Given the description of an element on the screen output the (x, y) to click on. 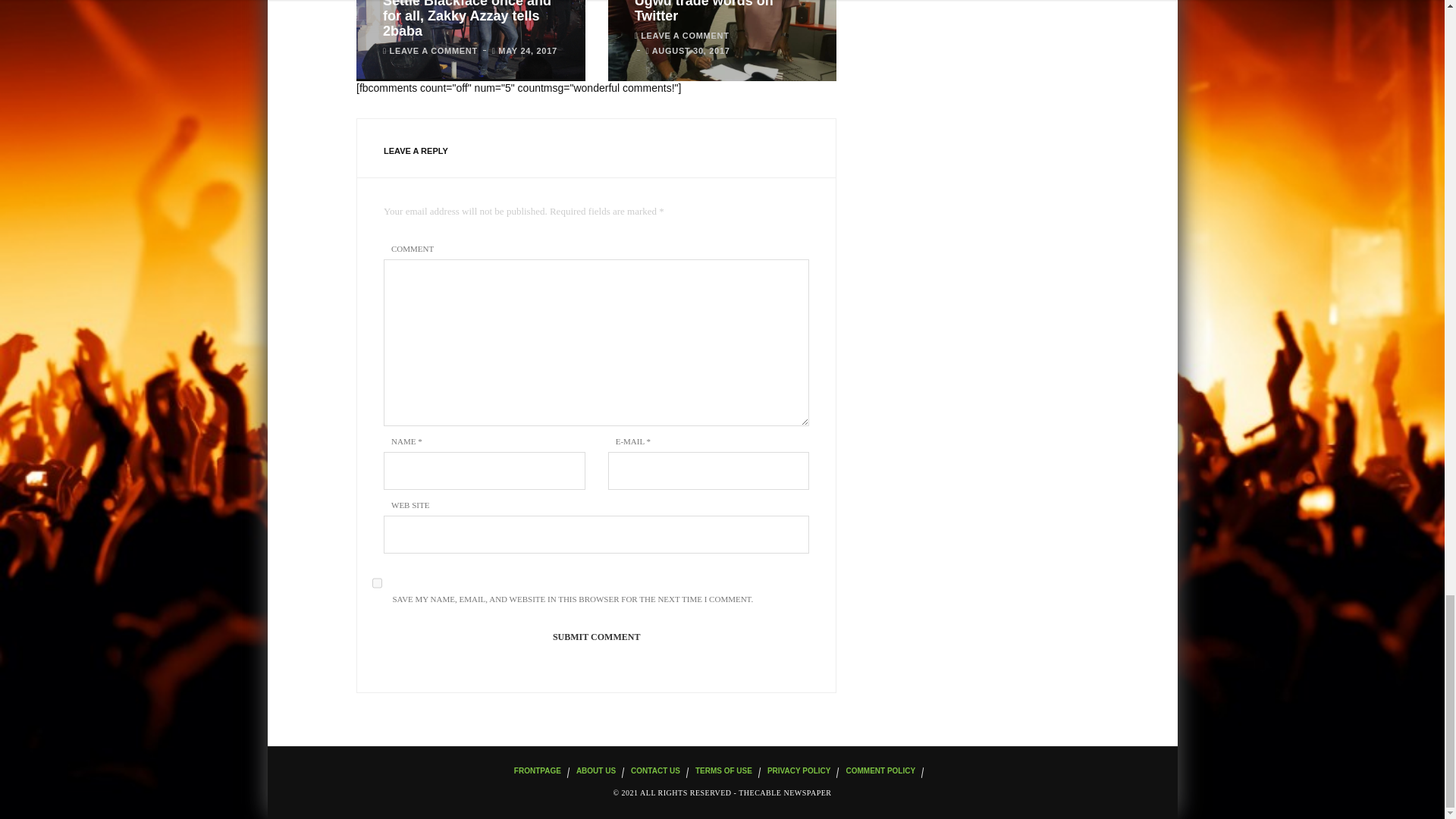
Submit Comment (596, 637)
